Given the description of an element on the screen output the (x, y) to click on. 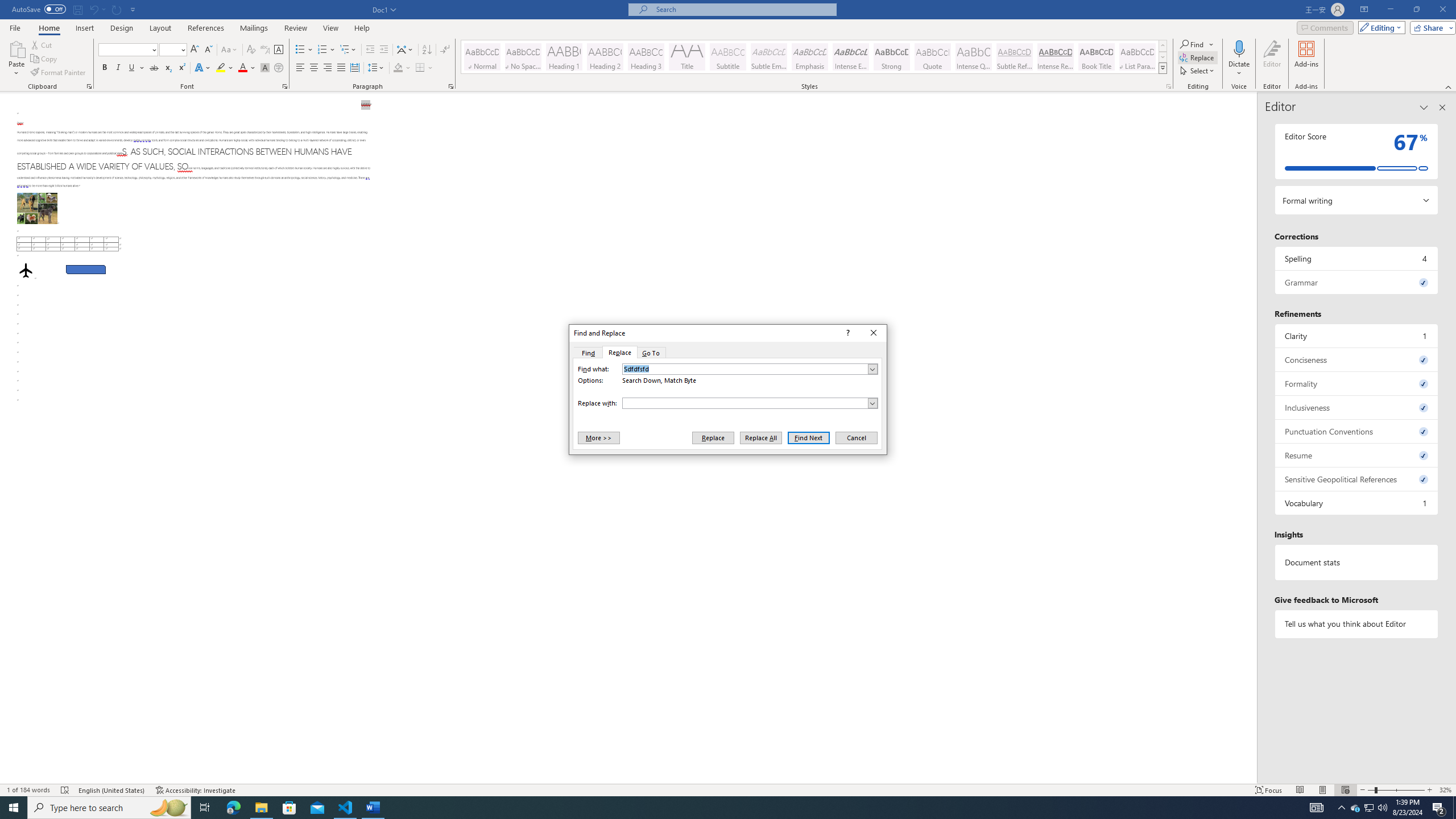
Running applications (717, 807)
